Given the description of an element on the screen output the (x, y) to click on. 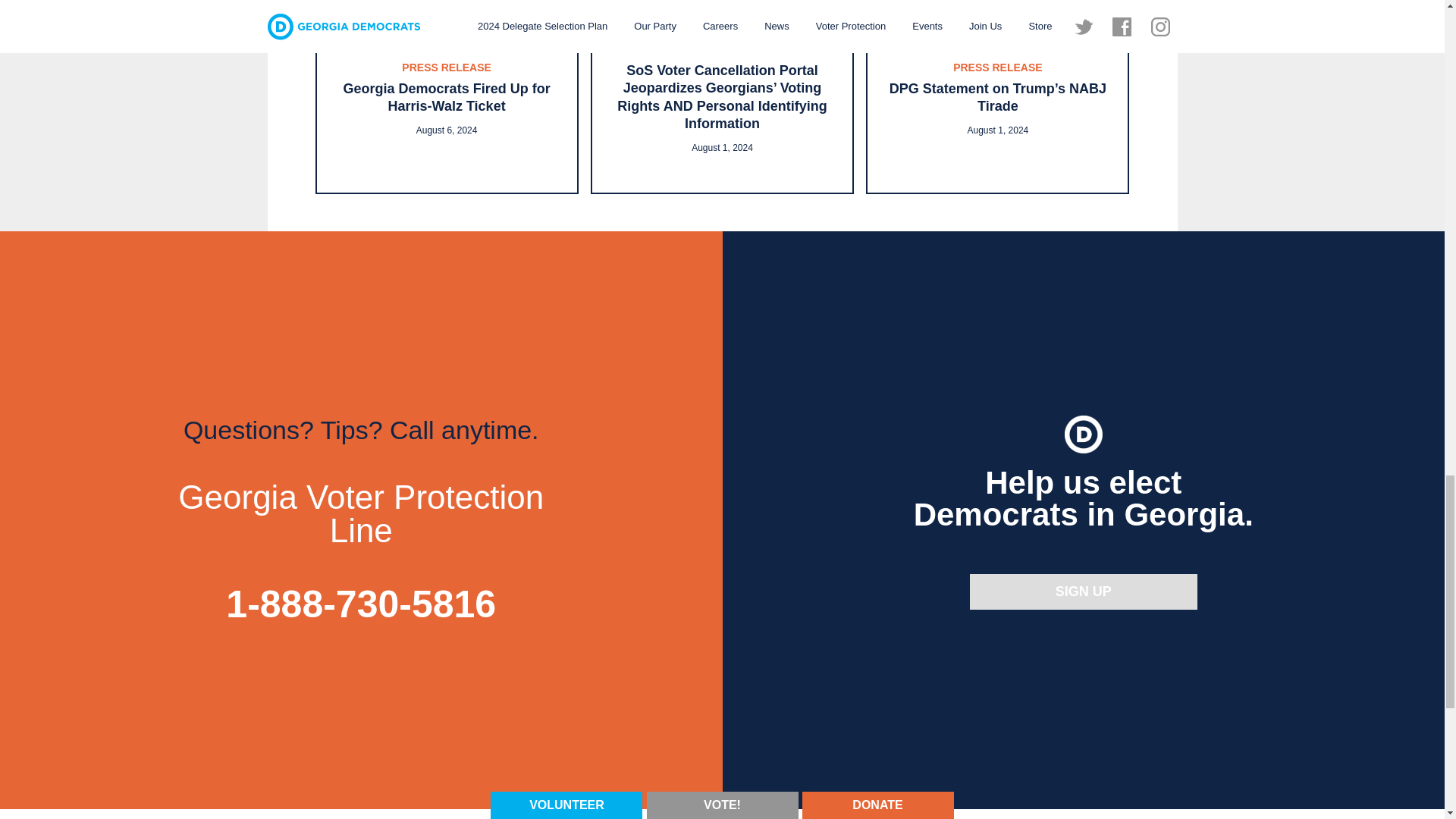
SIGN UP (1083, 591)
SIGN UP (1082, 591)
